Given the description of an element on the screen output the (x, y) to click on. 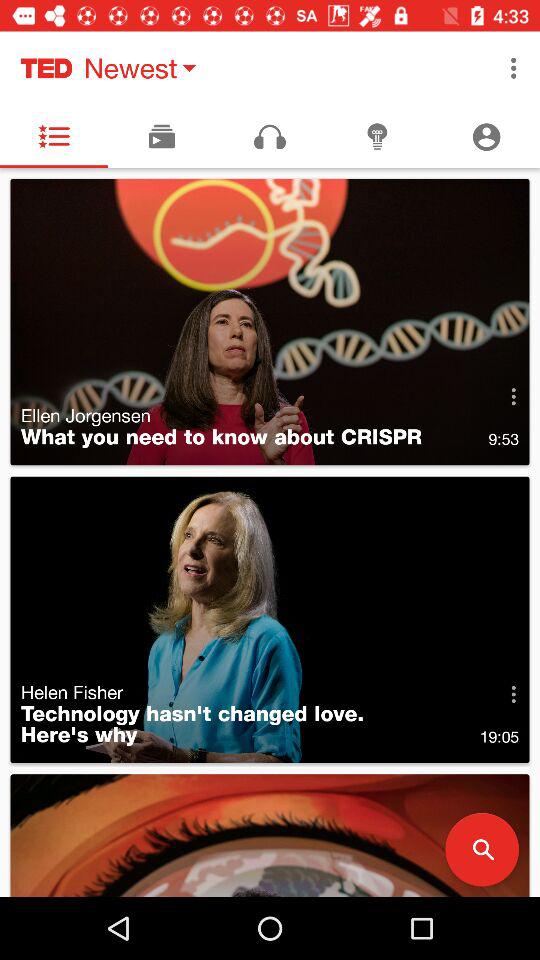
turn on icon next to the newest icon (513, 67)
